Given the description of an element on the screen output the (x, y) to click on. 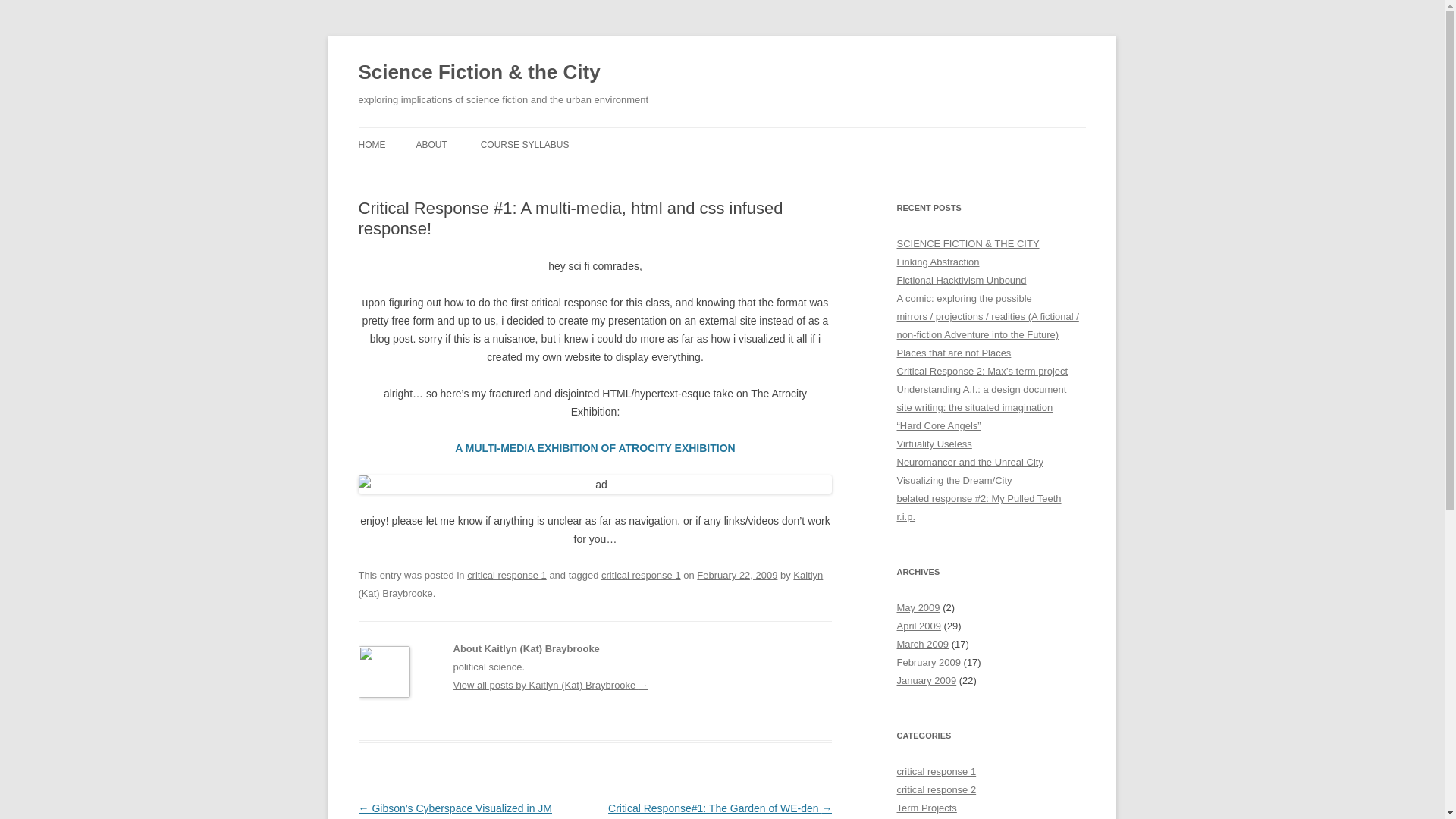
critical response 1 (507, 574)
Neuromancer and the Unreal City (969, 461)
r.i.p. (905, 516)
Term Projects (926, 808)
January 2009 (926, 680)
site writing: the situated imagination (974, 407)
ABOUT (430, 144)
February 2009 (927, 662)
6:08 pm (737, 574)
Fictional Hacktivism Unbound (961, 279)
Places that are not Places (953, 352)
April 2009 (918, 625)
adfd (594, 448)
Linking Abstraction (937, 261)
